Given the description of an element on the screen output the (x, y) to click on. 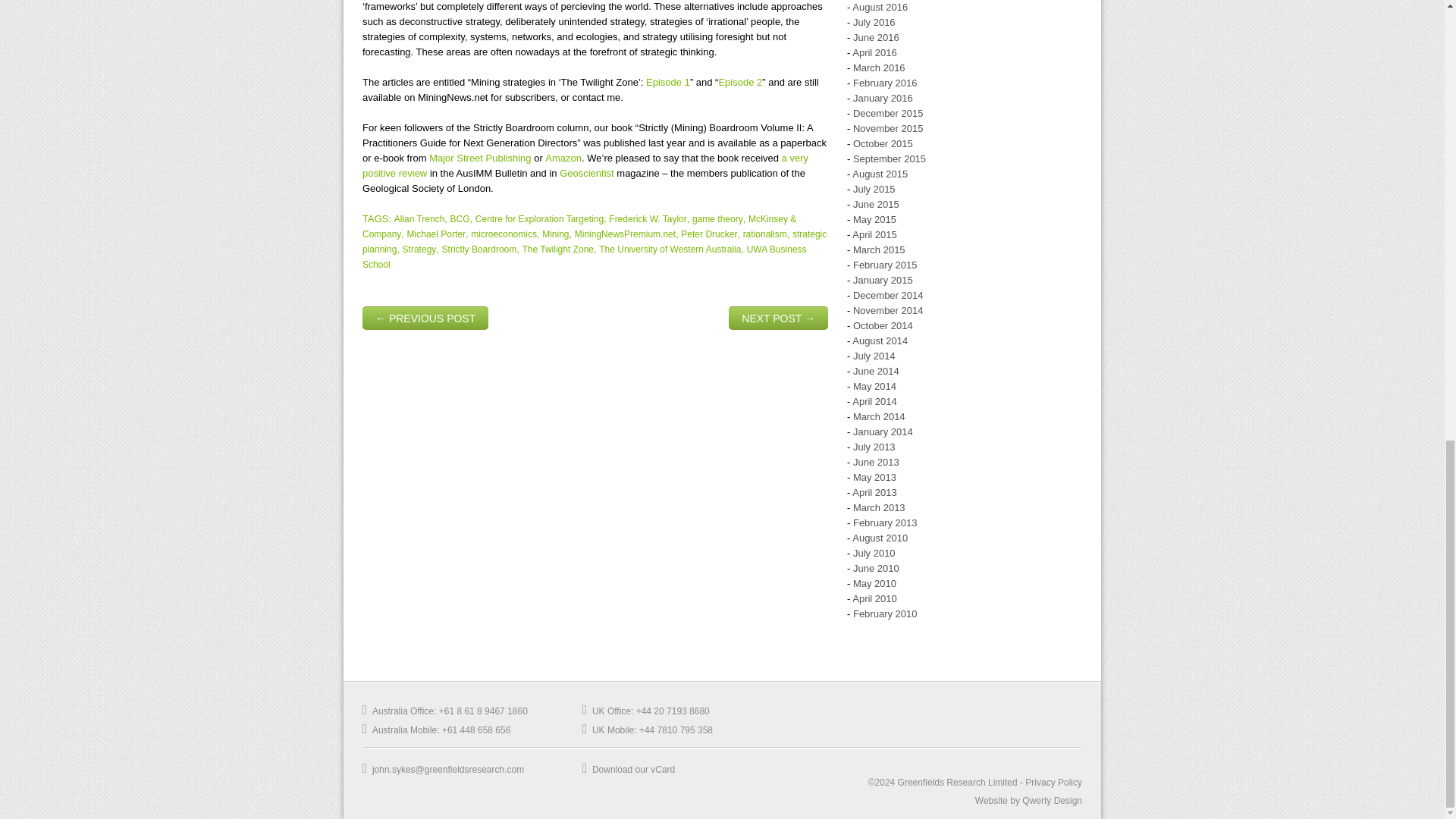
rationalism (764, 234)
MiningNewsPremium.net (625, 234)
Michael Porter (436, 234)
Episode 1 (668, 81)
Major Street Publishing (480, 157)
BCG (459, 218)
Allan Trench (419, 218)
Peter Drucker (708, 234)
Strictly Boardroom (479, 249)
Geoscientist (586, 173)
Episode 2 (739, 81)
a very positive review (585, 165)
game theory (717, 218)
Centre for Exploration Targeting (540, 218)
The University of Western Australia (669, 249)
